Given the description of an element on the screen output the (x, y) to click on. 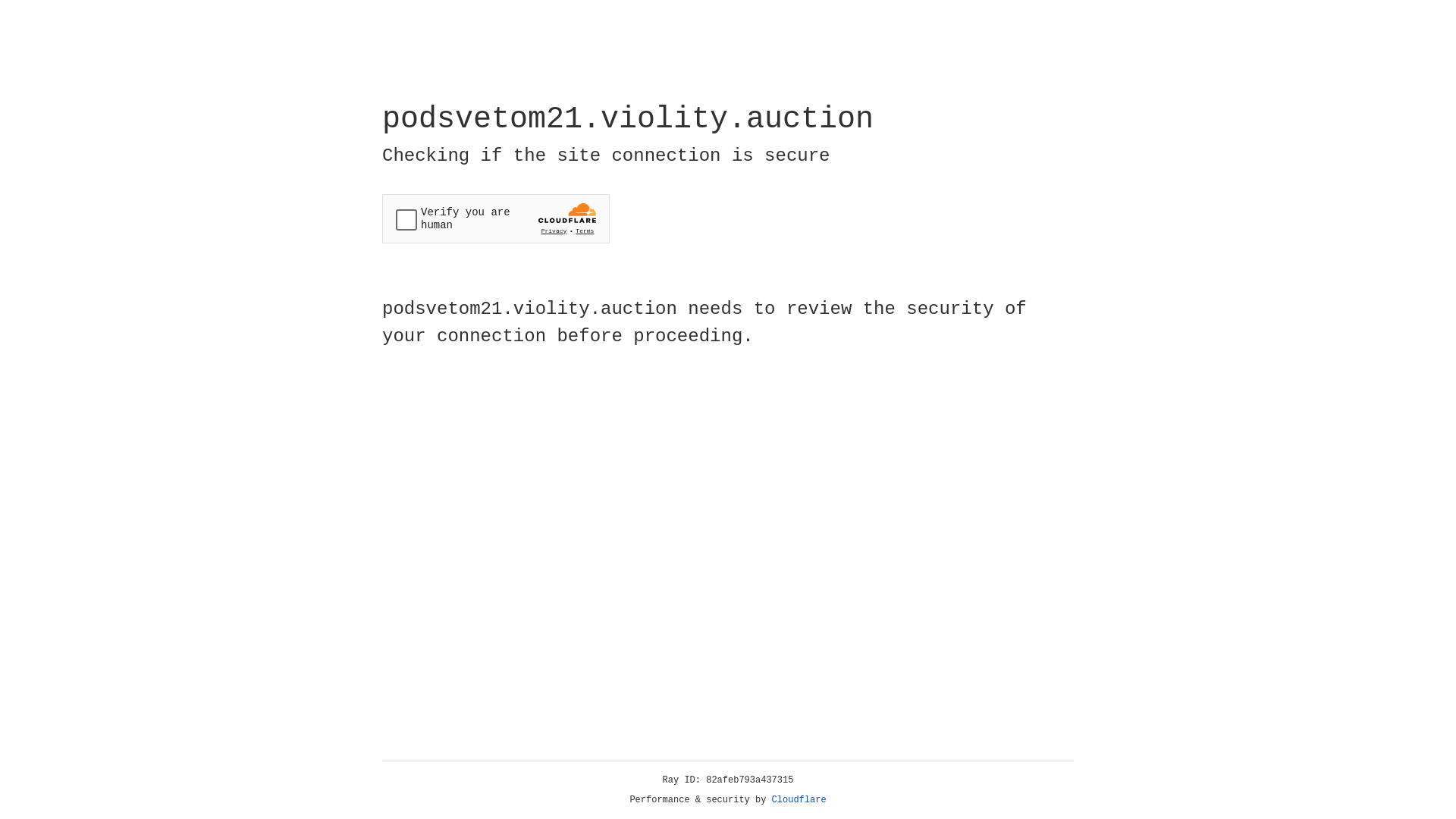
Widget containing a Cloudflare security challenge Element type: hover (495, 218)
Cloudflare Element type: text (798, 799)
